Given the description of an element on the screen output the (x, y) to click on. 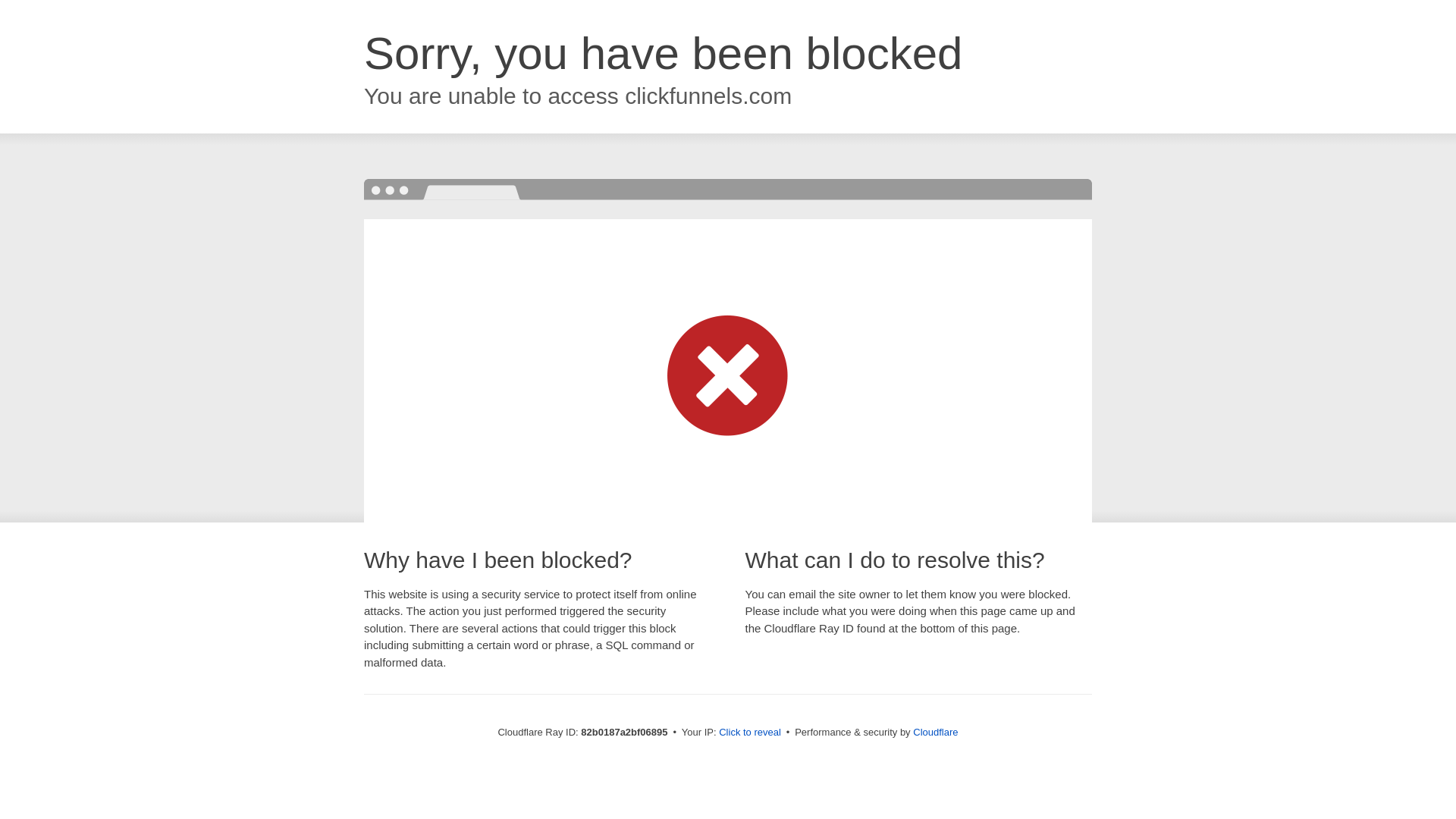
Click to reveal Element type: text (749, 732)
Cloudflare Element type: text (935, 731)
